Given the description of an element on the screen output the (x, y) to click on. 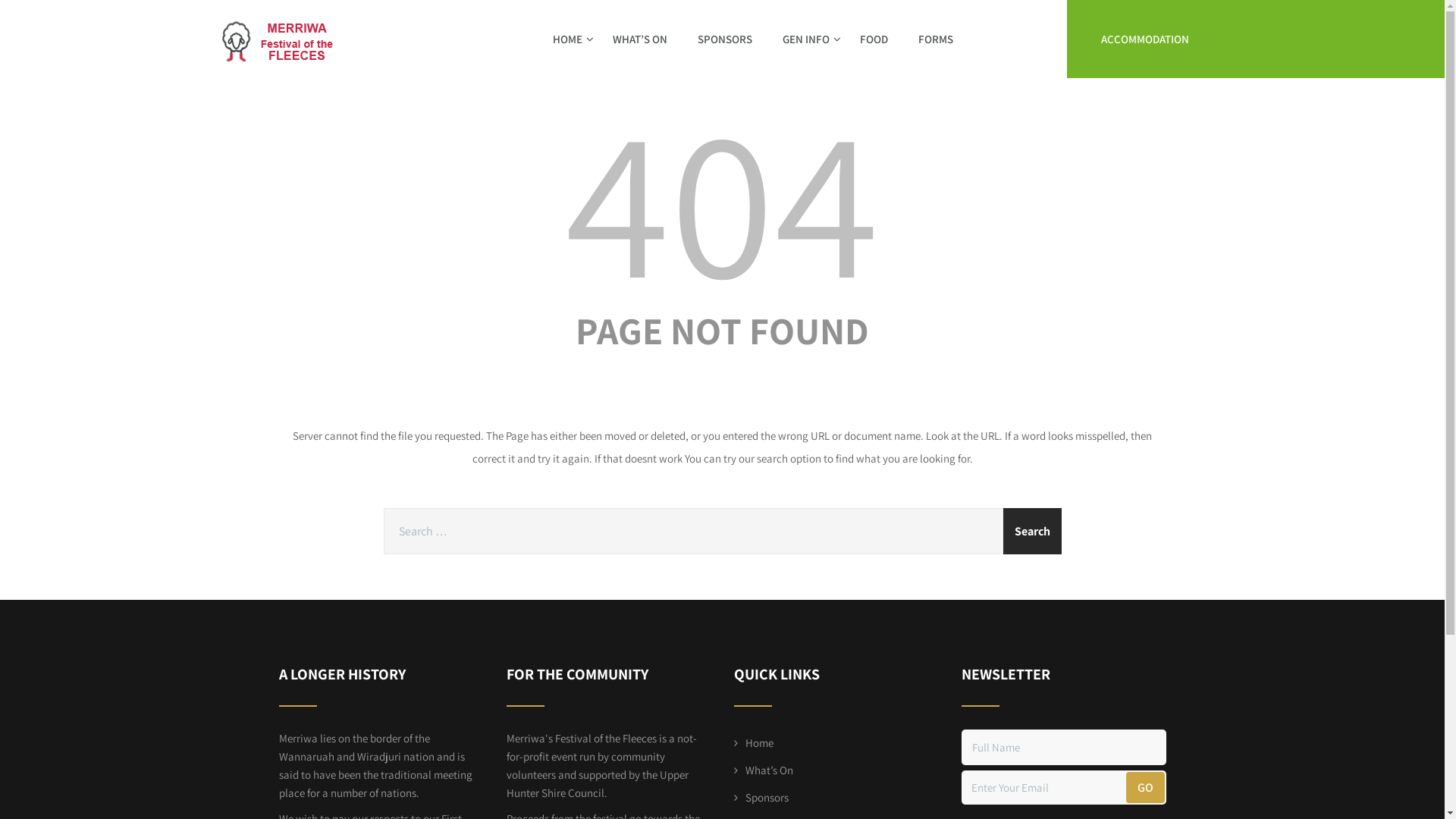
ACCOMMODATION Element type: text (1144, 39)
404 Element type: text (722, 199)
FORMS Element type: text (934, 39)
Sponsors Element type: text (761, 797)
HOME Element type: text (566, 39)
SPONSORS Element type: text (724, 39)
GO Element type: text (1144, 787)
Home Element type: text (753, 742)
Festival of the Fleeces Element type: hover (280, 7)
FOOD Element type: text (873, 39)
GEN INFO Element type: text (805, 39)
Search Element type: text (1031, 531)
